Given the description of an element on the screen output the (x, y) to click on. 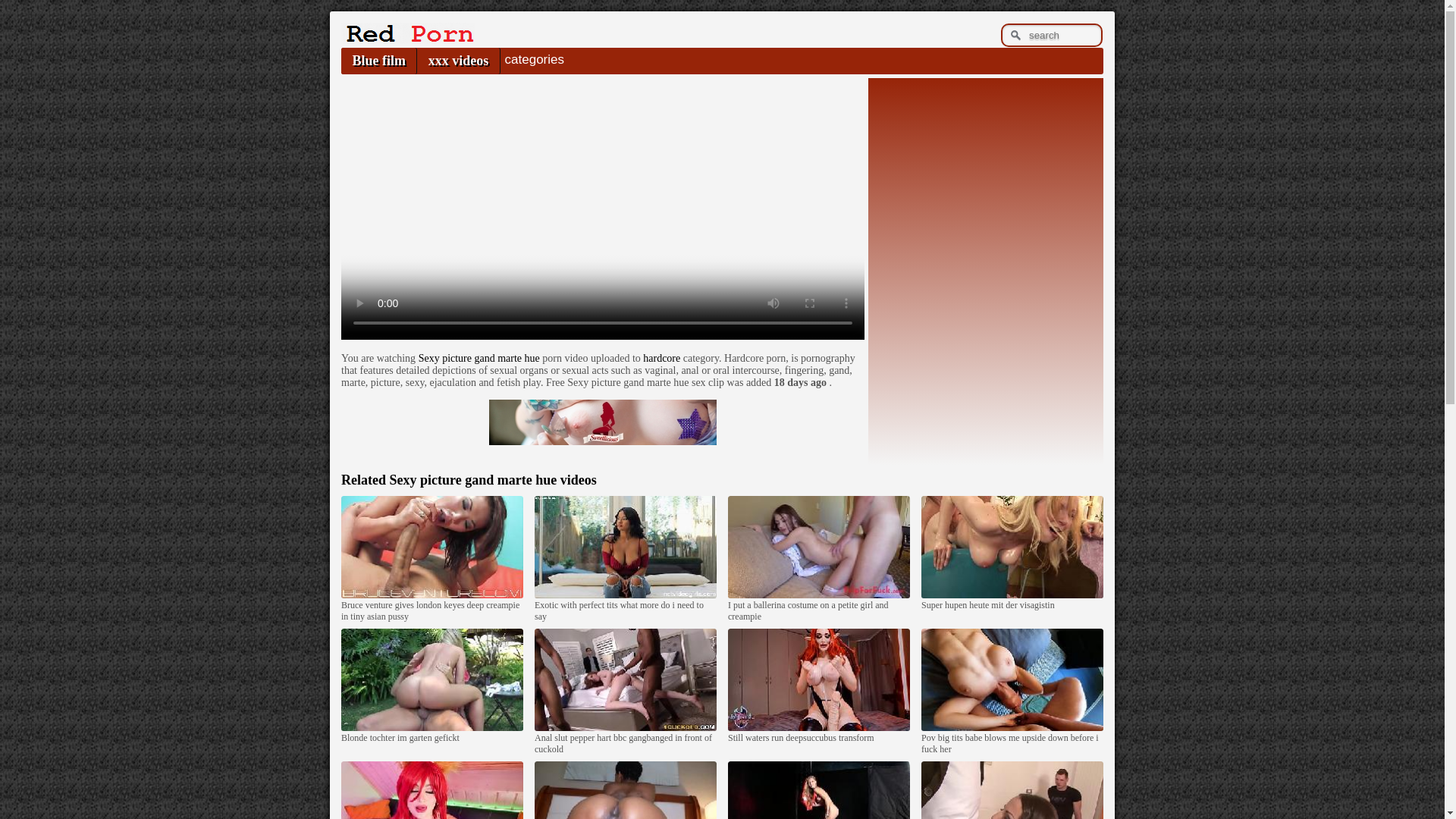
hardcore (661, 357)
Sexy picture gand marte hue videos (491, 479)
Indian Porn (407, 39)
xxx videos (457, 60)
Blue film (378, 60)
Blue film (378, 60)
categories (533, 59)
Sexy picture gand marte hue (479, 357)
xxx videos (457, 60)
